Given the description of an element on the screen output the (x, y) to click on. 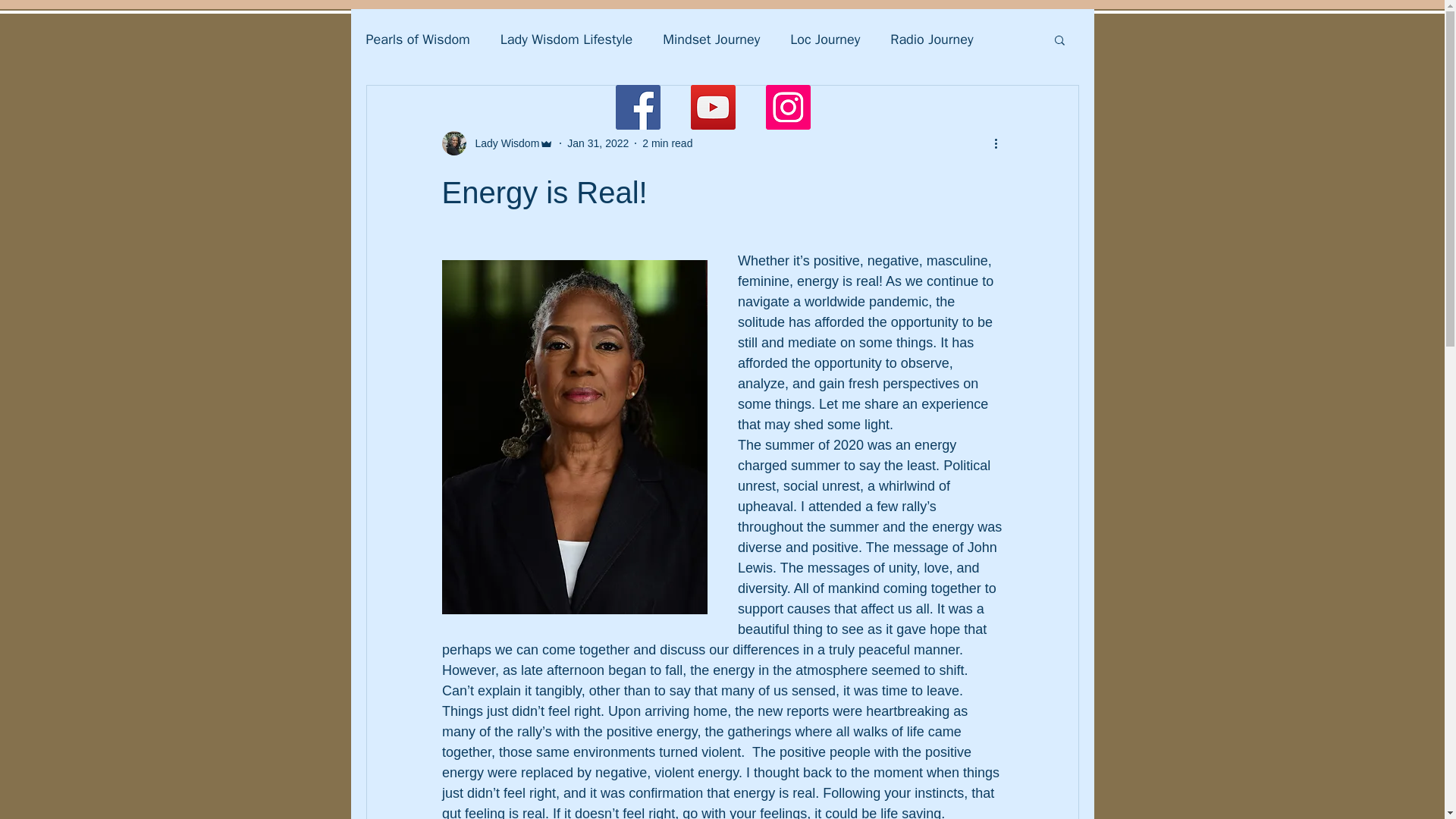
Jan 31, 2022 (597, 142)
Lady Wisdom (501, 142)
Pearls of Wisdom (416, 39)
Lady Wisdom (497, 143)
Lady Wisdom Lifestyle (565, 39)
Mindset Journey (711, 39)
Radio Journey (930, 39)
Log In (1016, 22)
Loc Journey (825, 39)
2 min read (667, 142)
